Given the description of an element on the screen output the (x, y) to click on. 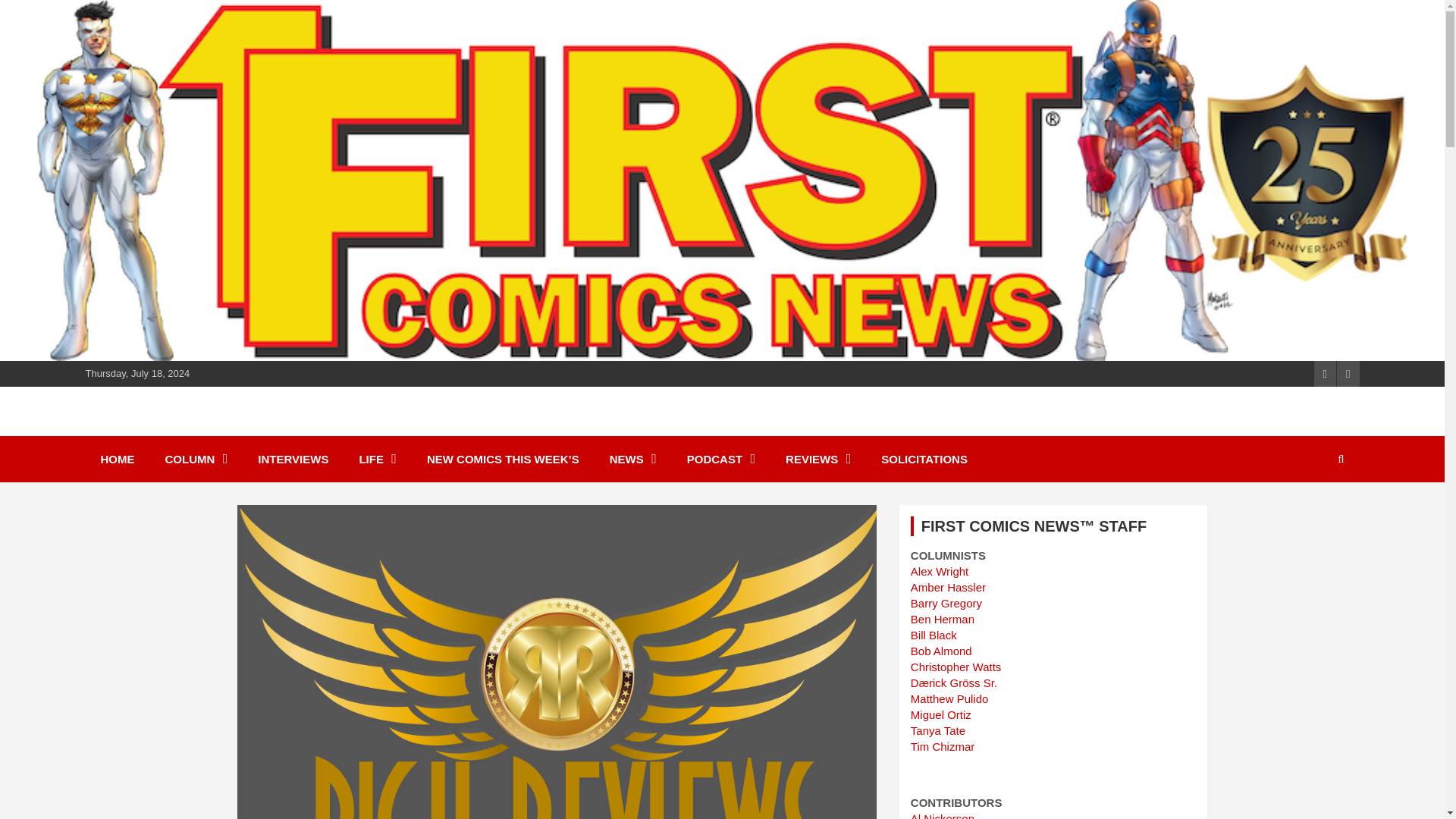
LIFE (377, 458)
First Comics News (220, 428)
COLUMN (196, 458)
NEWS (632, 458)
INTERVIEWS (293, 458)
HOME (116, 458)
REVIEWS (818, 458)
PODCAST (720, 458)
